Given the description of an element on the screen output the (x, y) to click on. 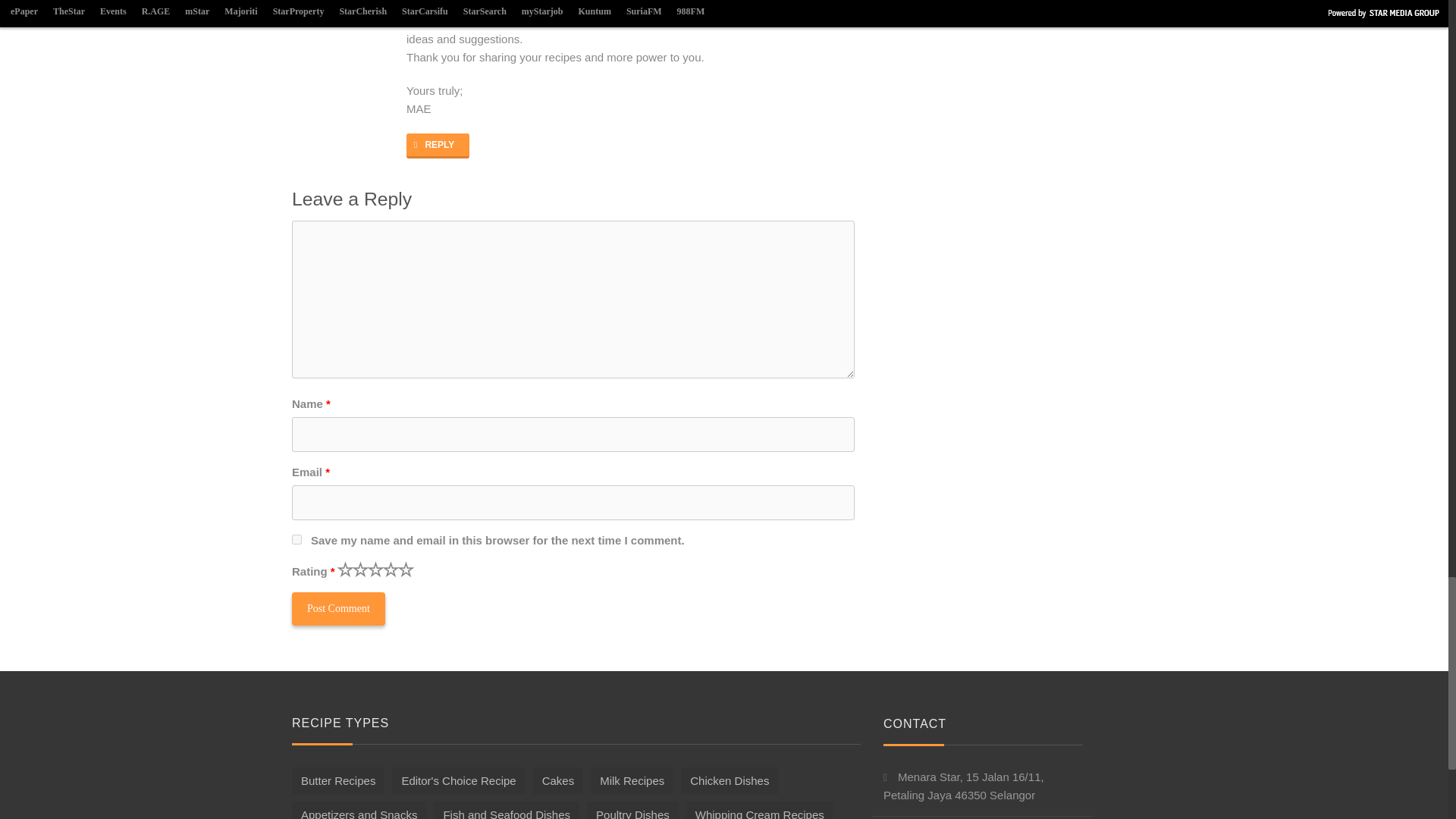
Post Comment (338, 608)
yes (296, 539)
